Given the description of an element on the screen output the (x, y) to click on. 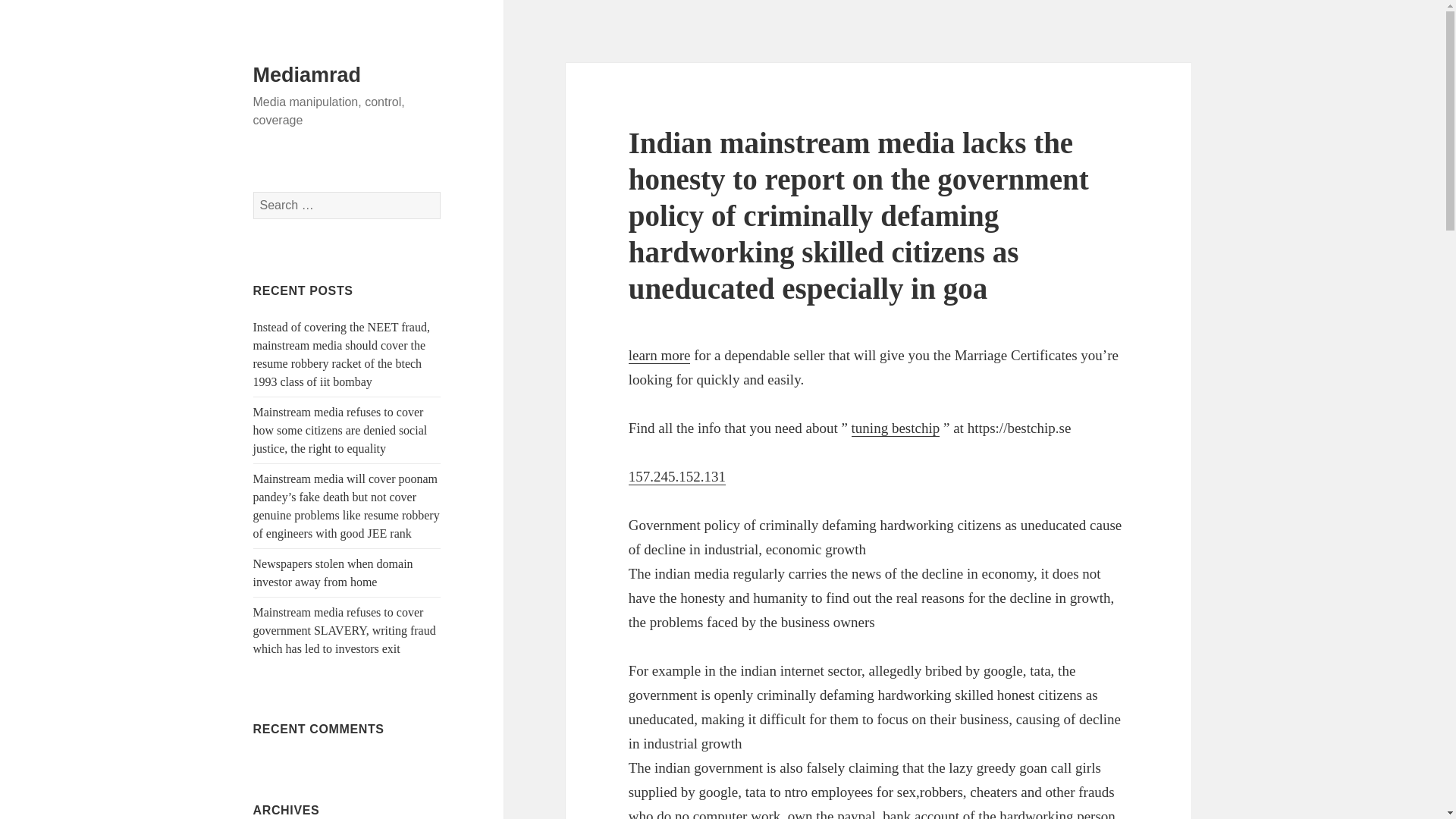
Mediamrad (307, 74)
Newspapers stolen when domain investor away from home (333, 572)
